Given the description of an element on the screen output the (x, y) to click on. 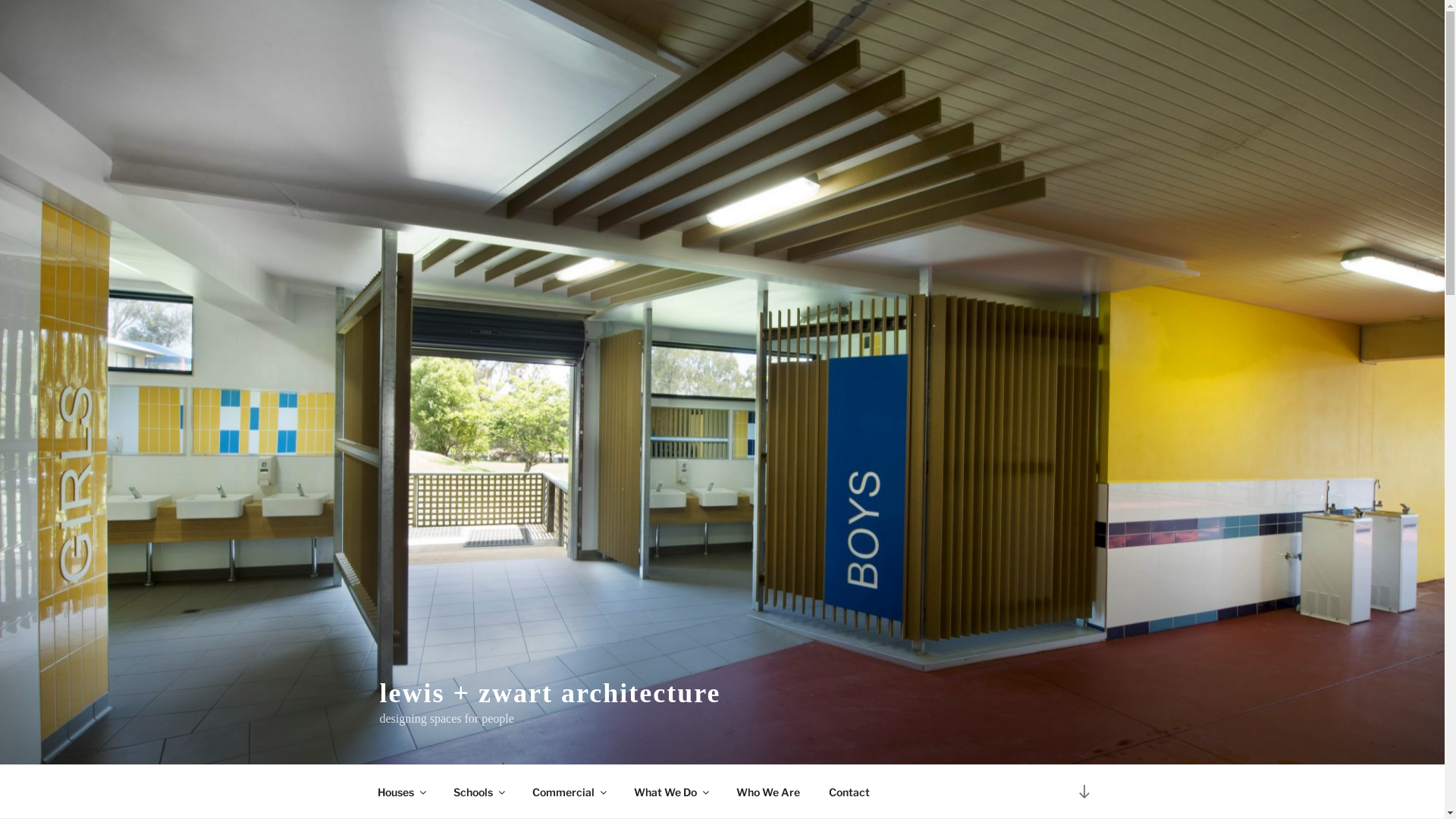
Who We Are Element type: text (768, 791)
Commercial Element type: text (568, 791)
Scroll down to content Element type: text (1083, 790)
Schools Element type: text (477, 791)
lewis + zwart architecture Element type: text (549, 692)
Houses Element type: text (400, 791)
Contact Element type: text (849, 791)
What We Do Element type: text (670, 791)
